Given the description of an element on the screen output the (x, y) to click on. 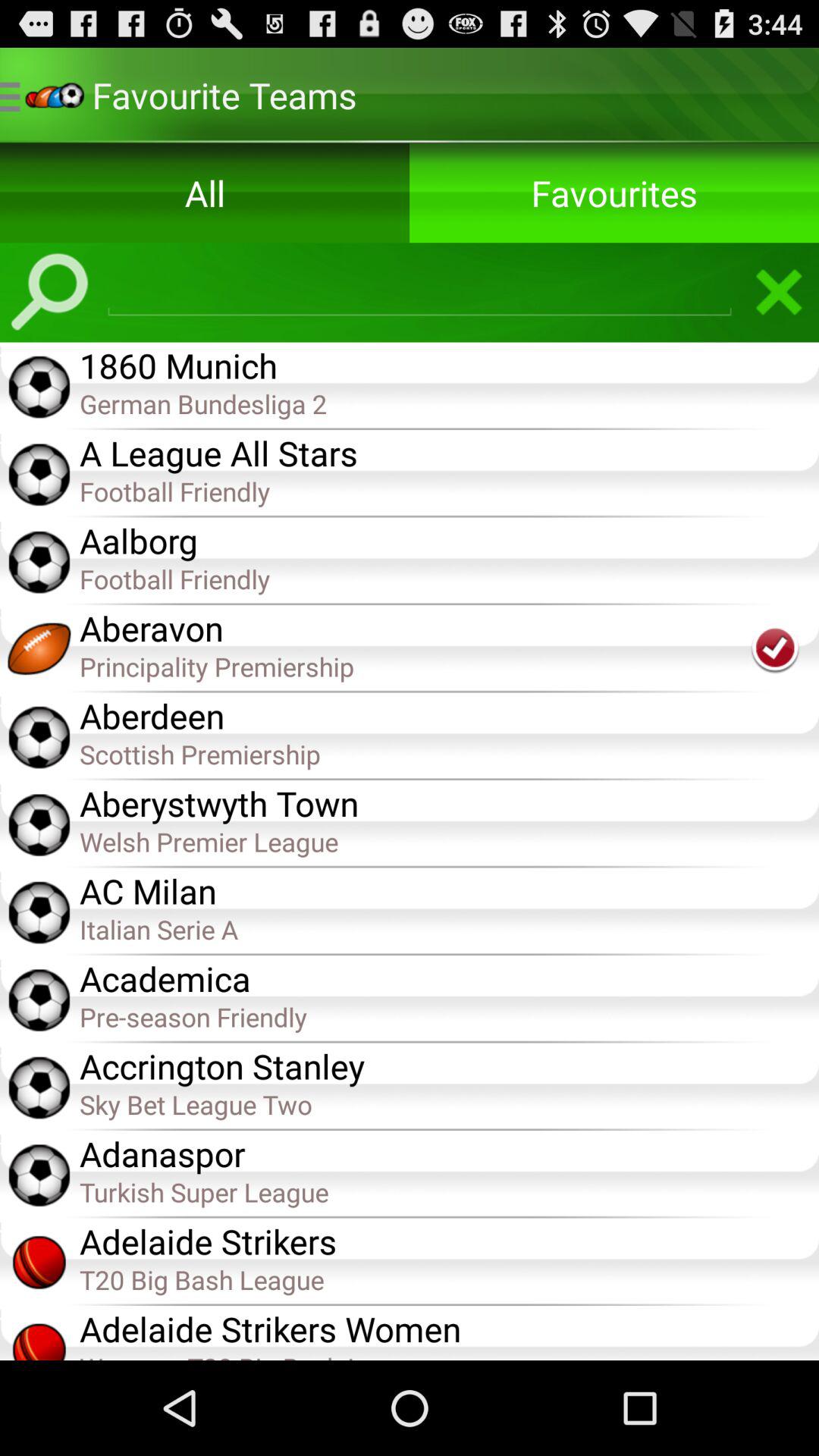
launch the aberystwyth town icon (449, 802)
